Given the description of an element on the screen output the (x, y) to click on. 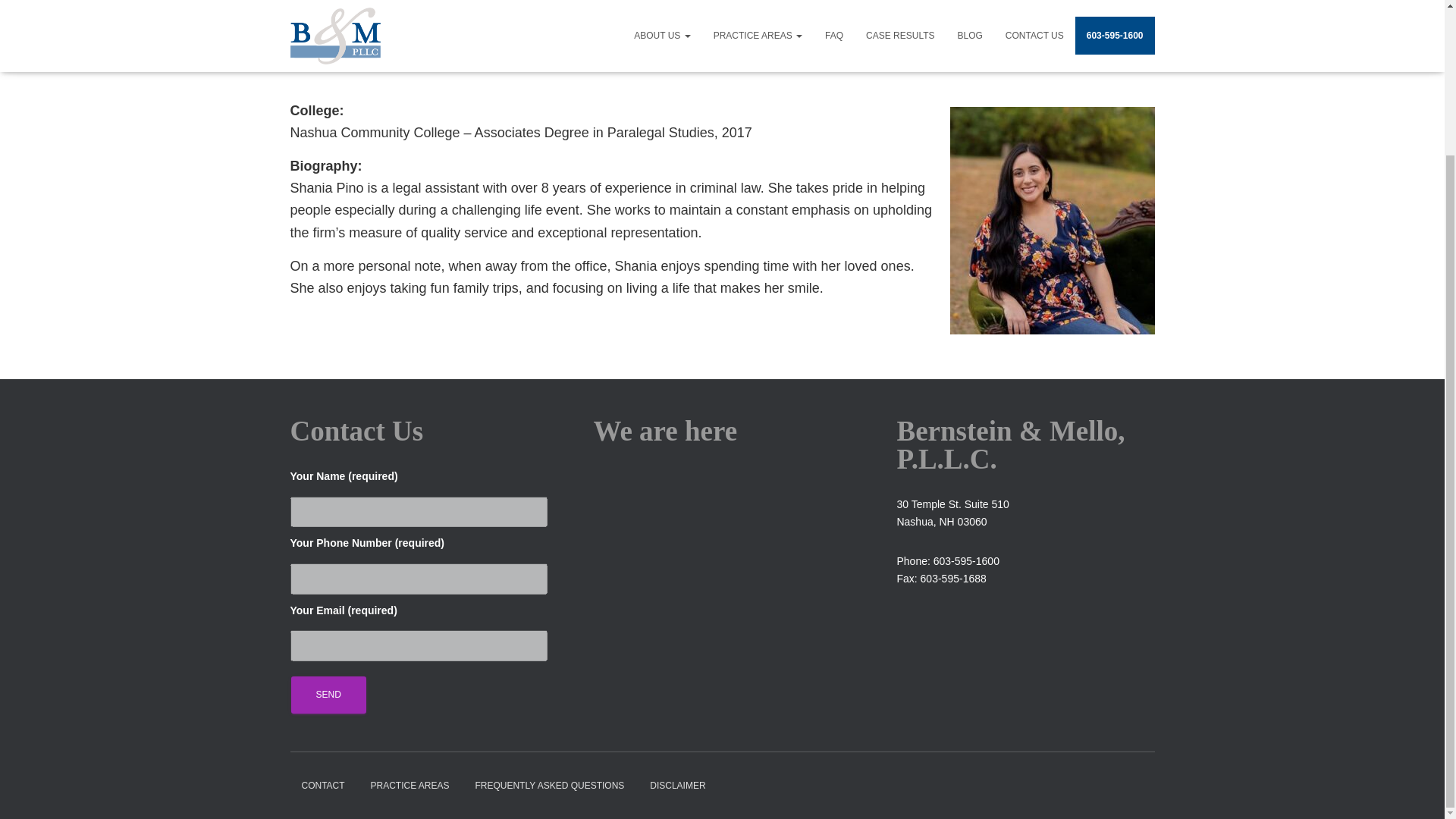
Send (328, 694)
Send (328, 694)
PRACTICE AREAS (410, 785)
FREQUENTLY ASKED QUESTIONS (548, 785)
CONTACT (322, 785)
DISCLAIMER (677, 785)
